Given the description of an element on the screen output the (x, y) to click on. 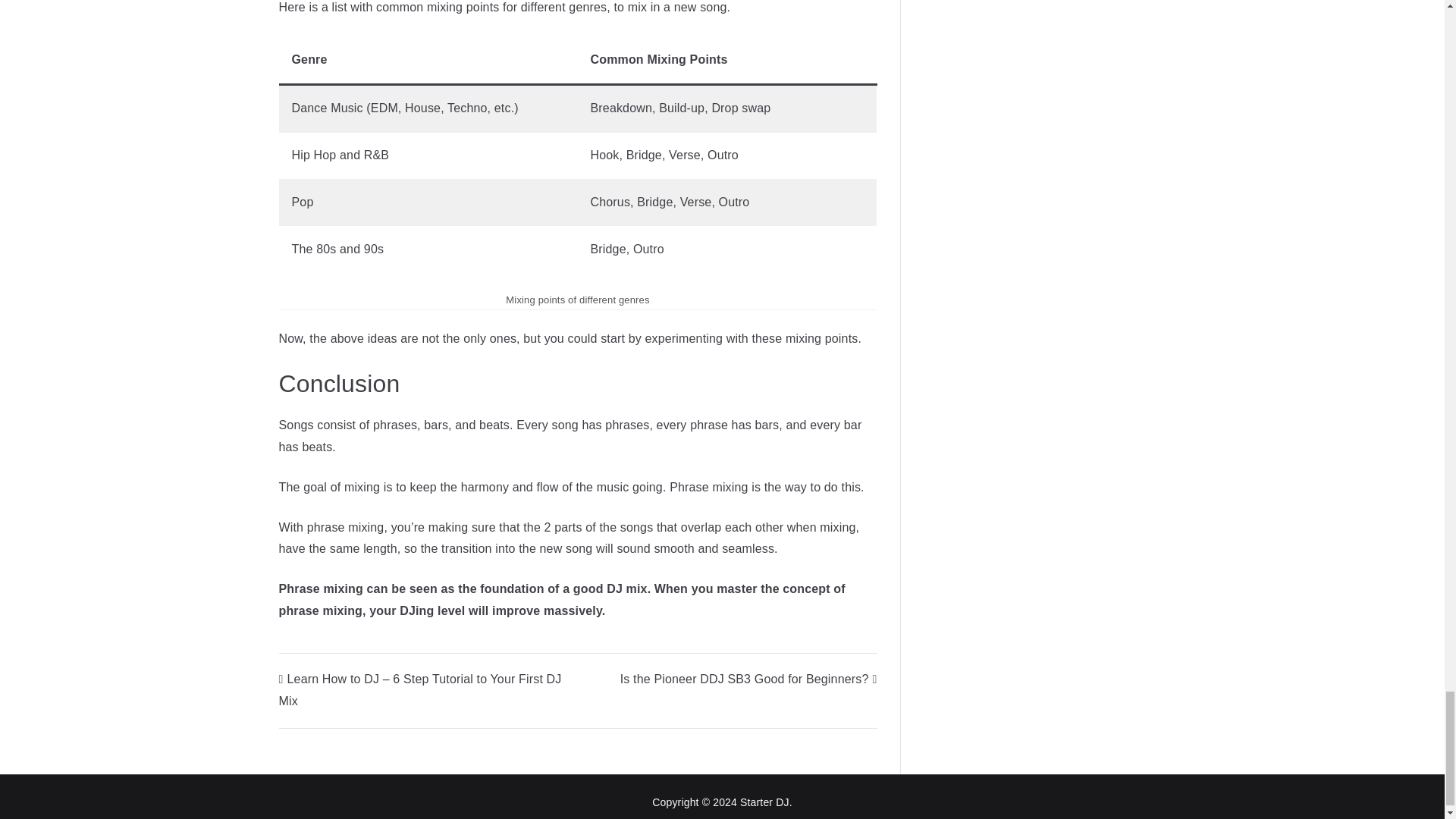
Starter DJ (764, 802)
